Given the description of an element on the screen output the (x, y) to click on. 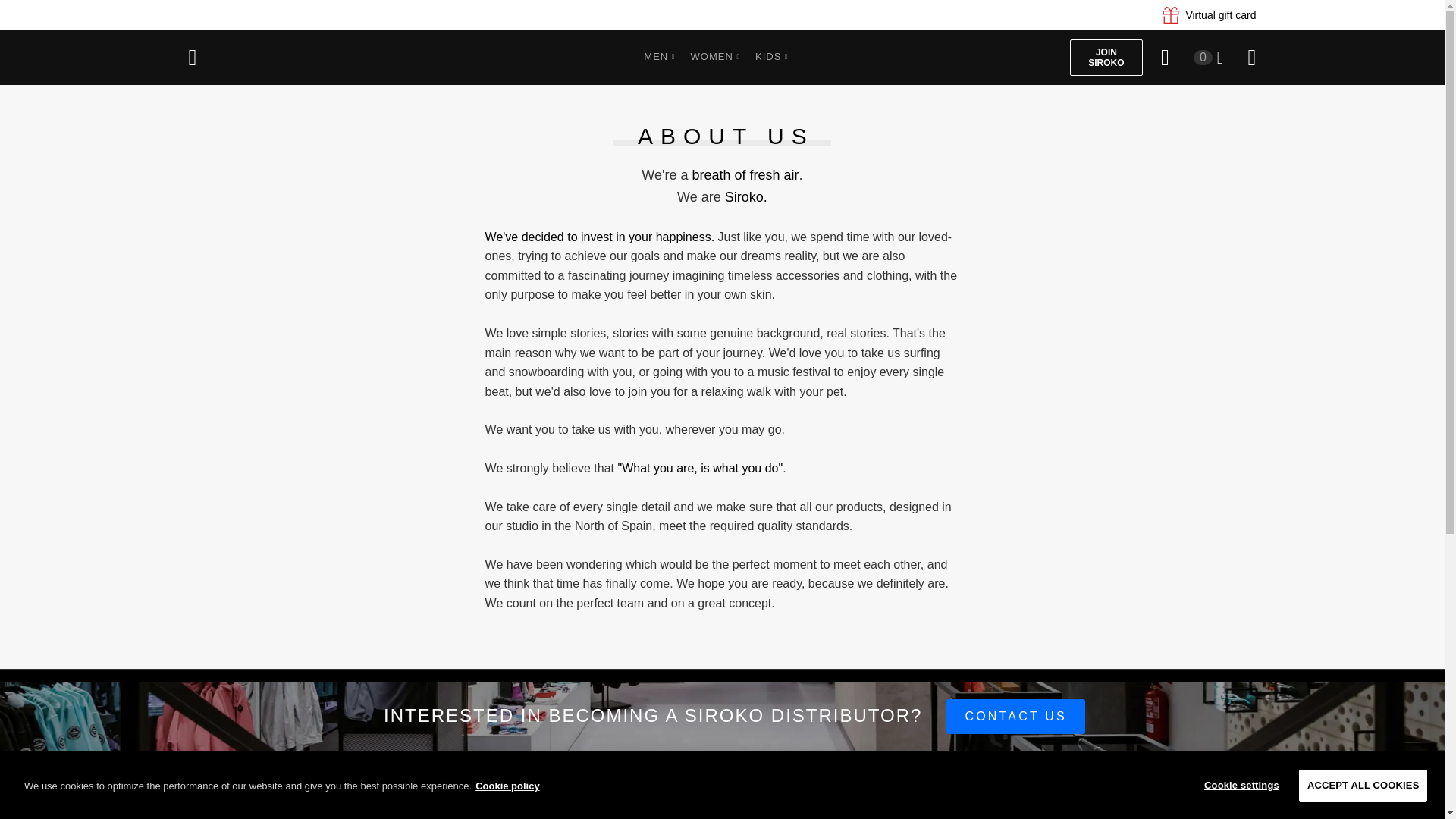
Virtual gift card (1208, 14)
Contact us (1015, 716)
